Given the description of an element on the screen output the (x, y) to click on. 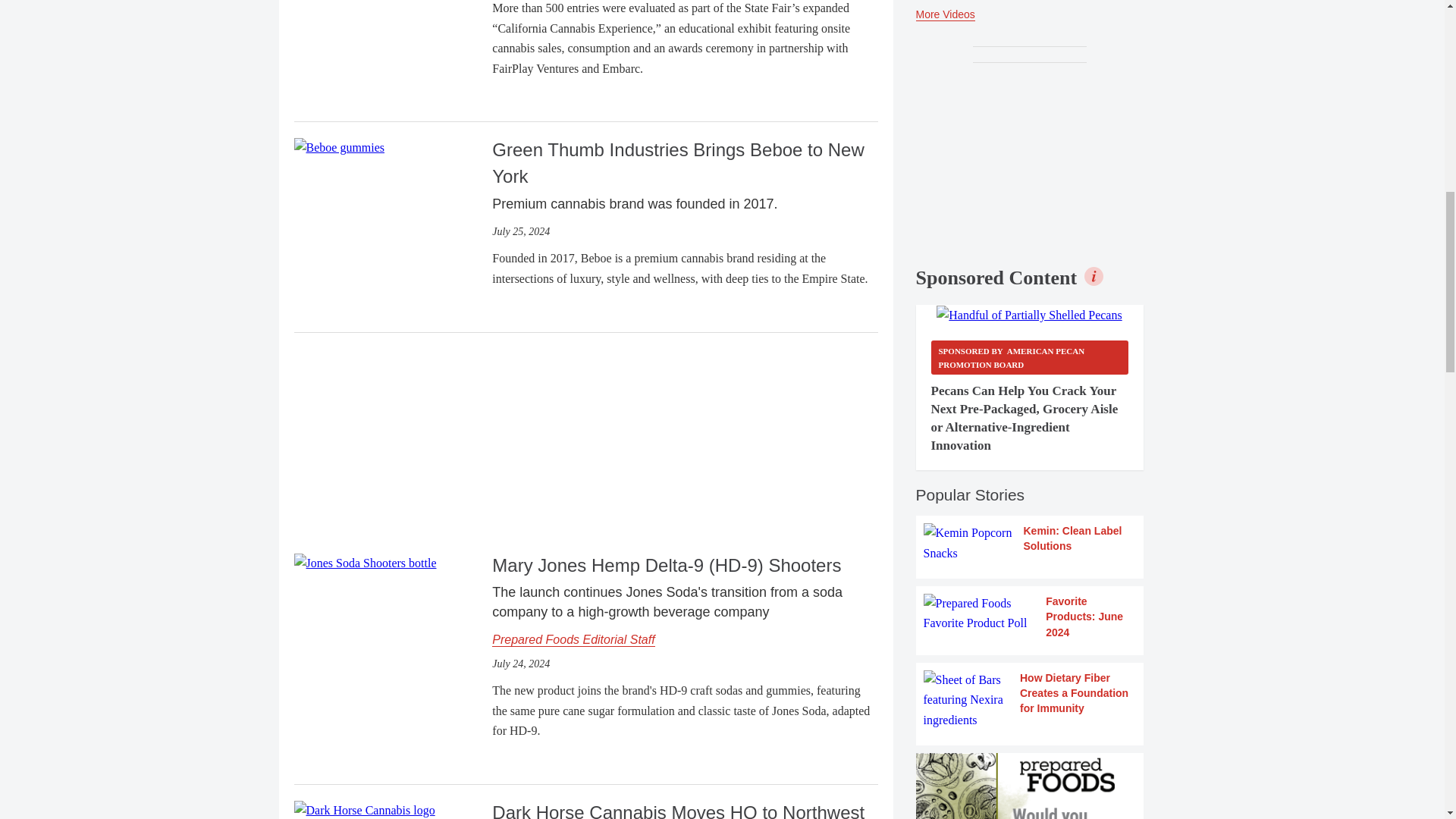
Jones Soda Shooters bottle (365, 563)
Dark Horse Cannabis logo (364, 809)
Dark Horse Cannabis Moves HQ to Northwest Arkansas (364, 809)
Beboe gummies (339, 148)
Green Thumb Industries Brings Beboe to New York (339, 146)
